Given the description of an element on the screen output the (x, y) to click on. 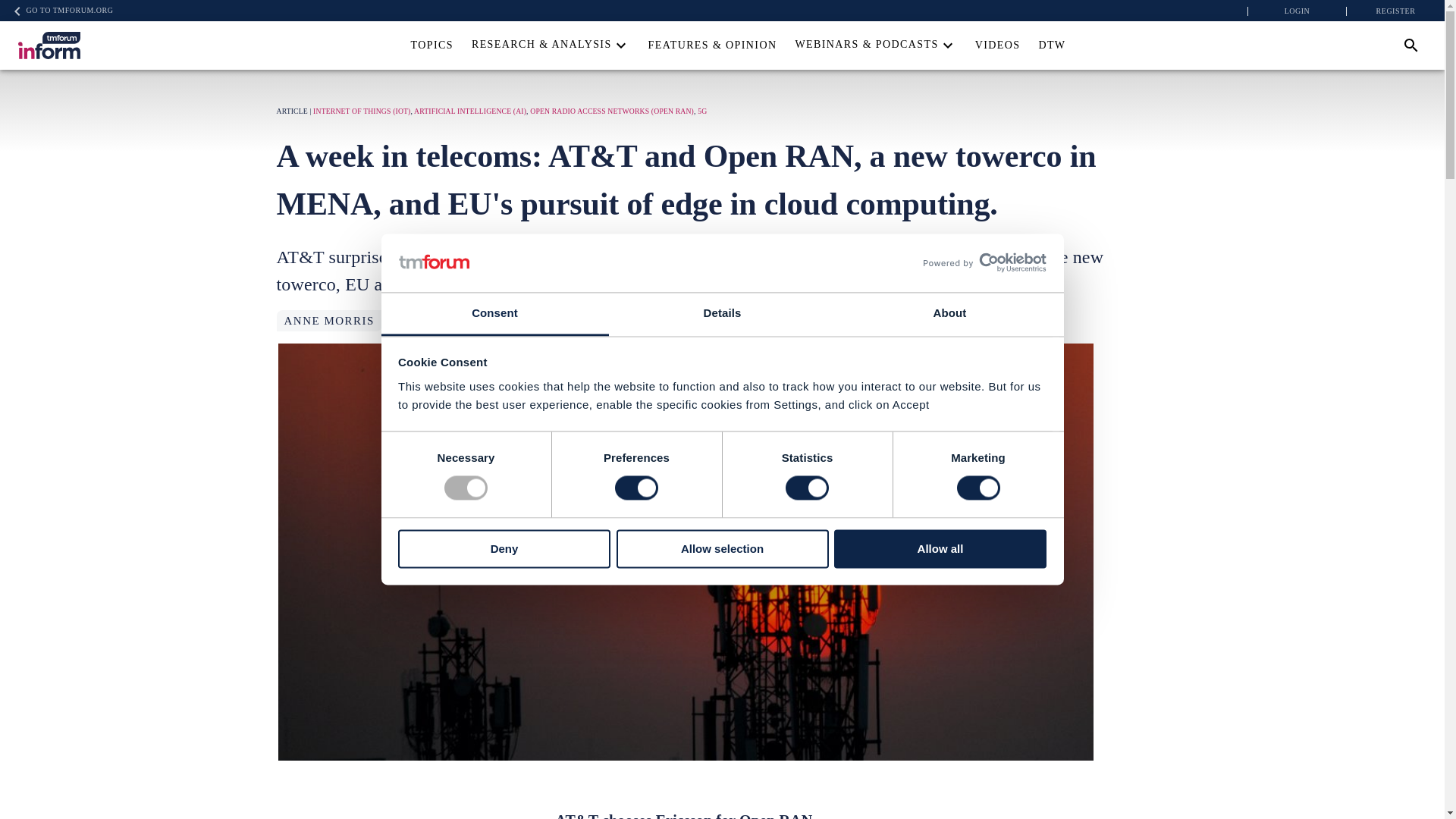
About (948, 313)
Details (721, 313)
Consent (494, 313)
